Given the description of an element on the screen output the (x, y) to click on. 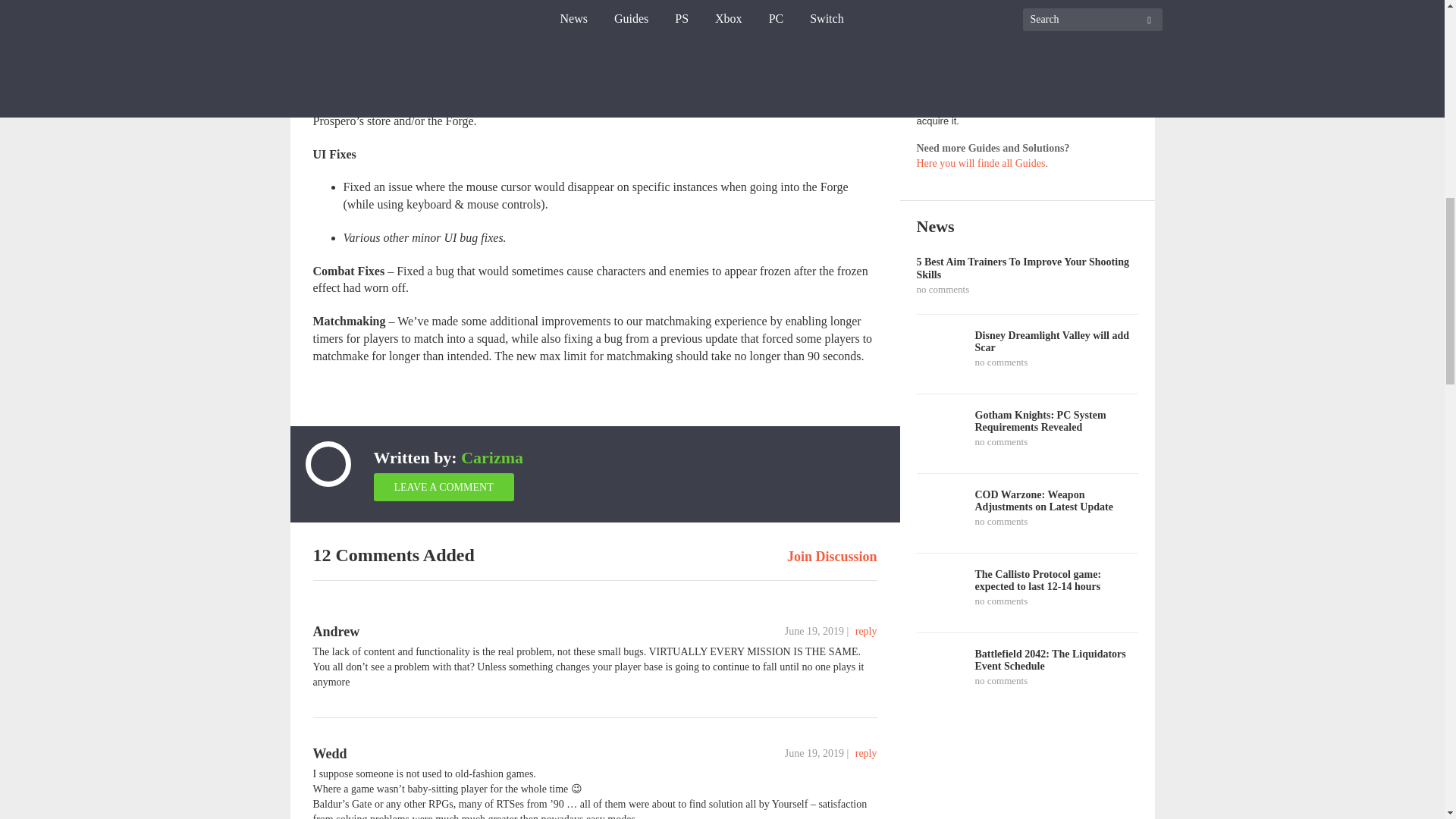
Join Discussion (832, 557)
Andrew (336, 631)
reply (866, 753)
Wedd (329, 753)
reply (866, 631)
LEAVE A COMMENT (442, 487)
